Given the description of an element on the screen output the (x, y) to click on. 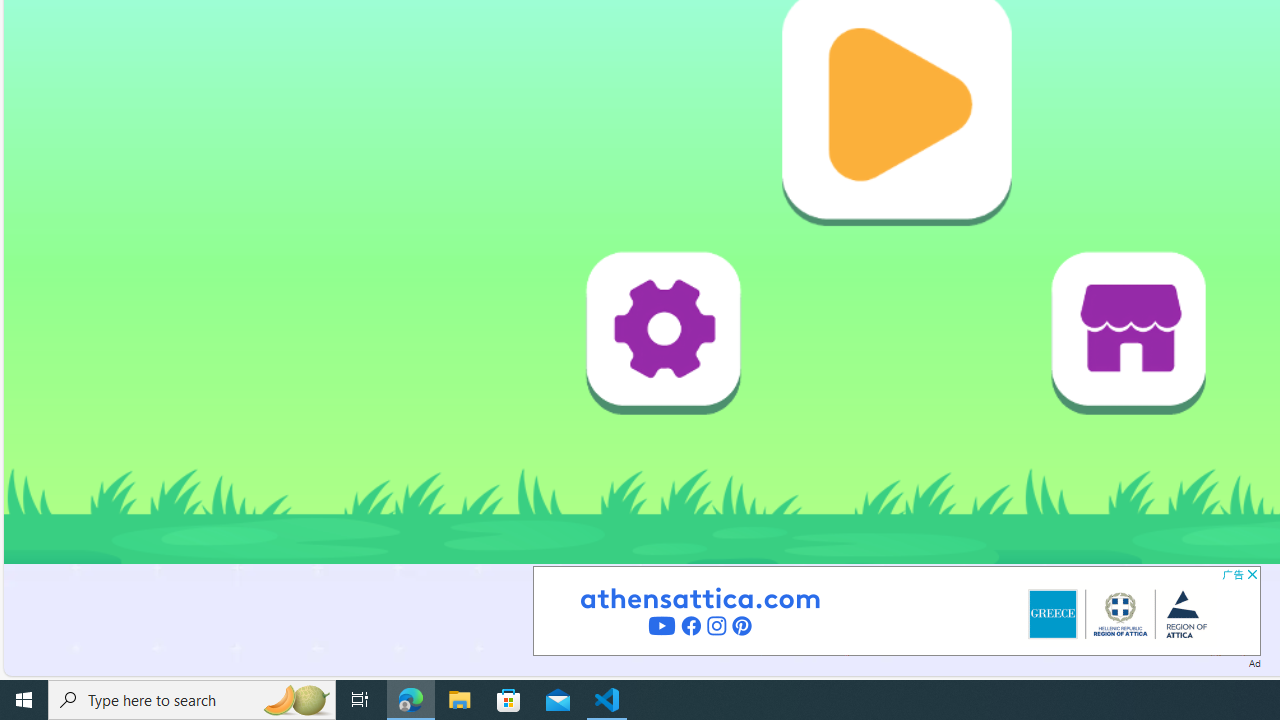
Advertisement (896, 610)
AutomationID: cbb (1252, 574)
Advertisement (896, 610)
